Given the description of an element on the screen output the (x, y) to click on. 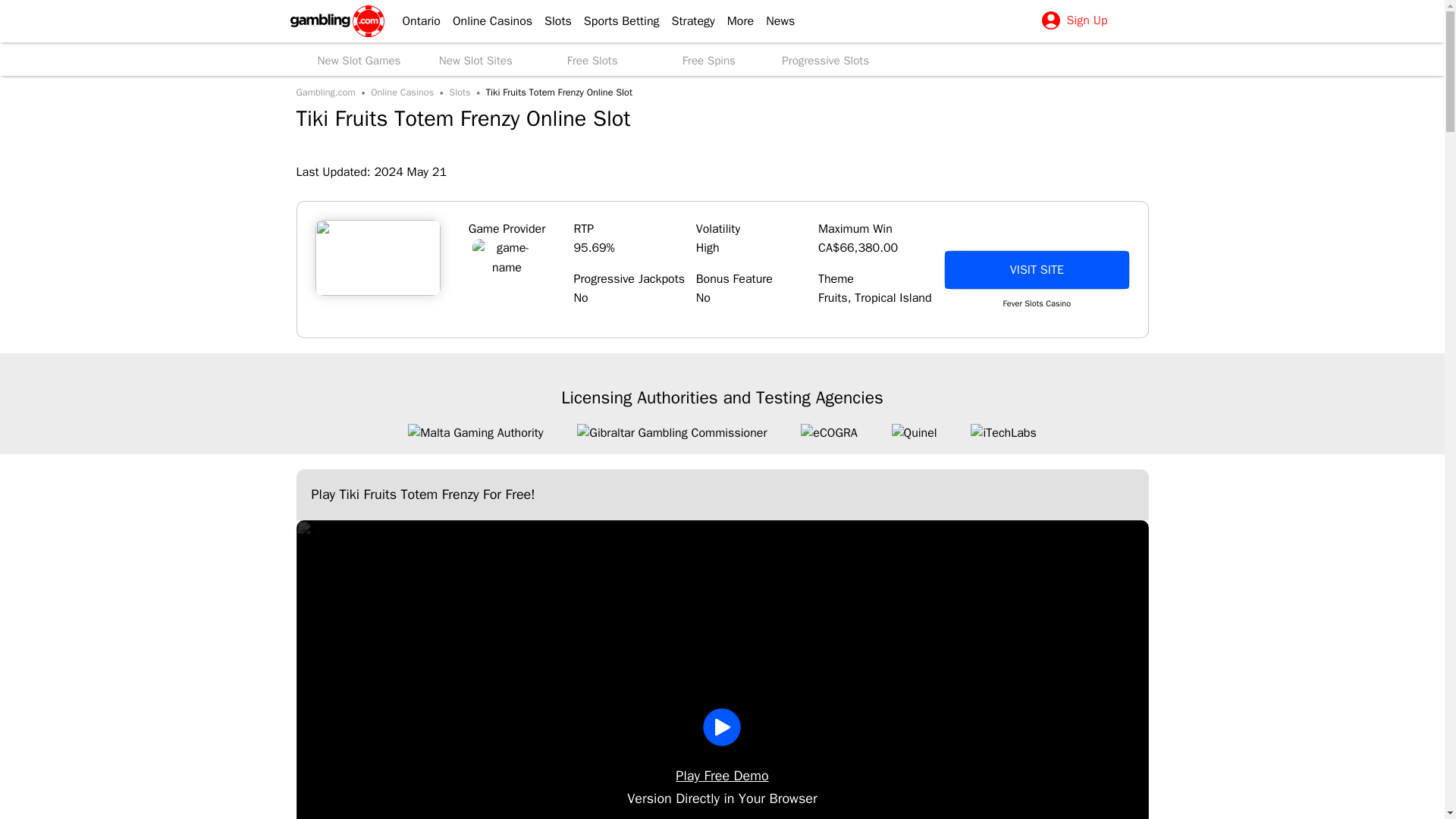
Slots (552, 21)
Online Casinos (486, 21)
Ontario (414, 21)
